Given the description of an element on the screen output the (x, y) to click on. 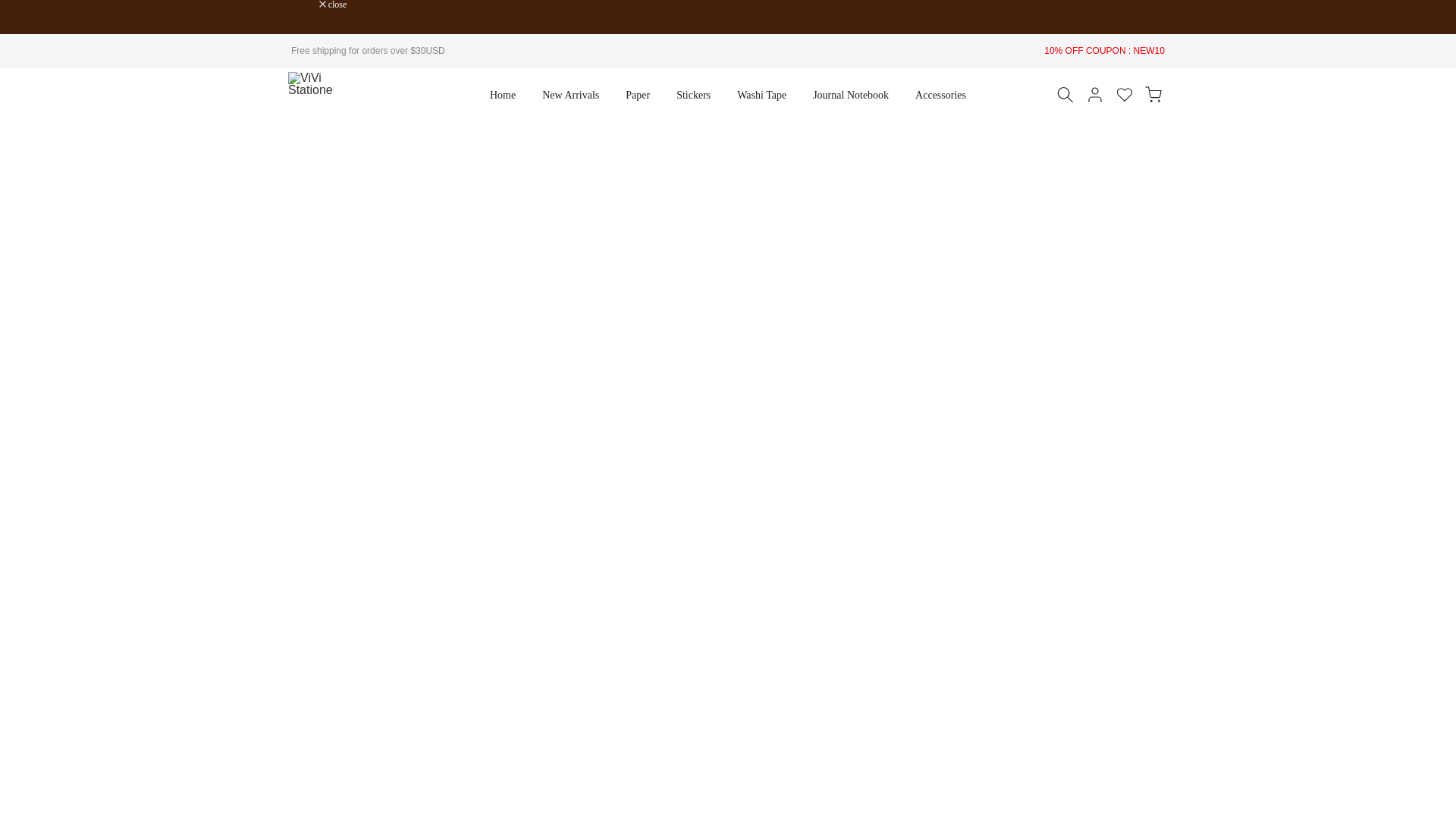
Home (502, 95)
Journal Notebook (850, 95)
Skip to content (10, 7)
close (332, 4)
Paper (637, 95)
New Arrivals (570, 95)
Washi Tape (761, 95)
Stickers (693, 95)
Accessories (940, 95)
